Given the description of an element on the screen output the (x, y) to click on. 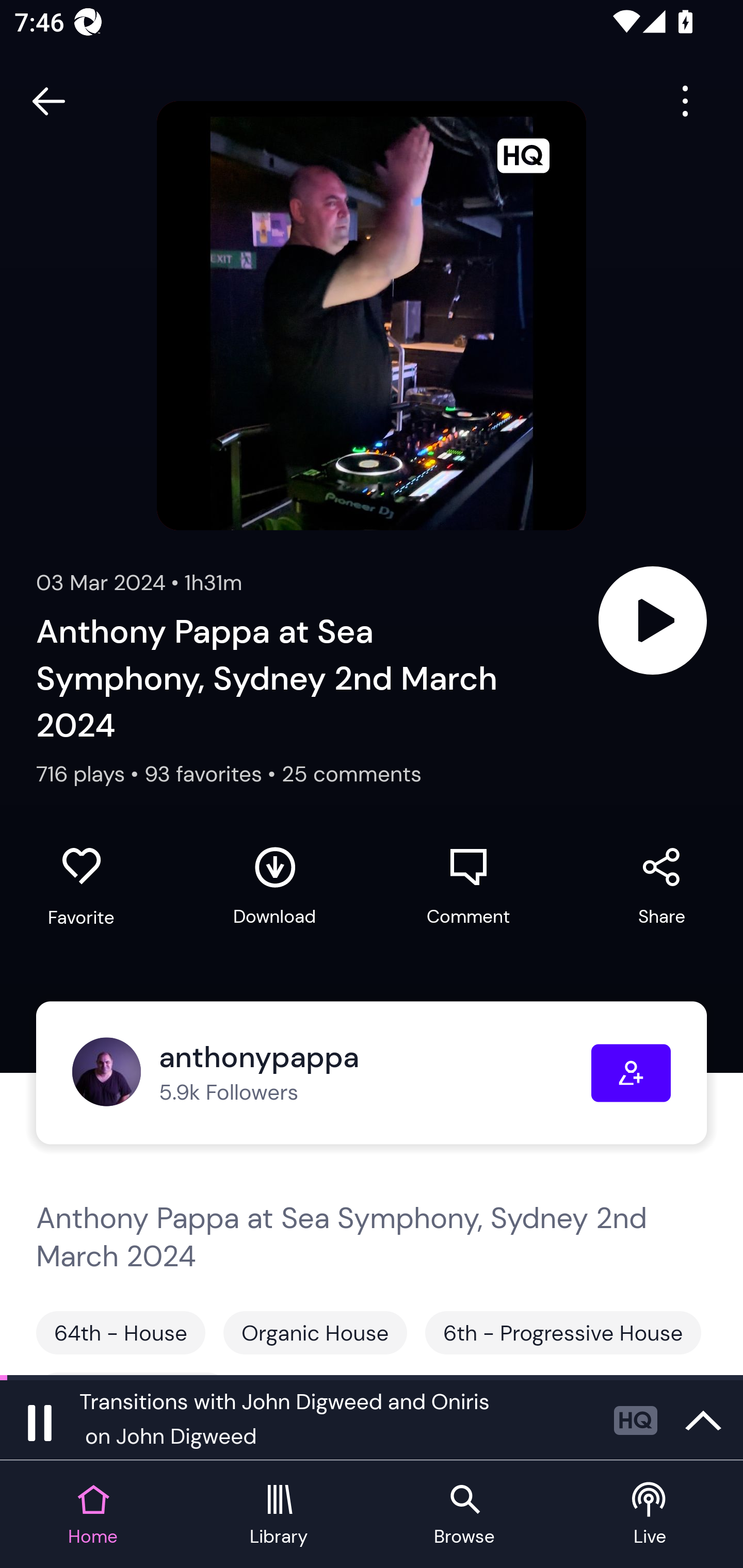
93 favorites •  (212, 773)
25 comments (351, 773)
Favorite (81, 886)
Download (274, 886)
Comment (467, 886)
Share (661, 886)
Follow (630, 1073)
64th - House (120, 1332)
Organic House (315, 1332)
6th - Progressive House (562, 1332)
Home tab Home (92, 1515)
Library tab Library (278, 1515)
Browse tab Browse (464, 1515)
Live tab Live (650, 1515)
